Given the description of an element on the screen output the (x, y) to click on. 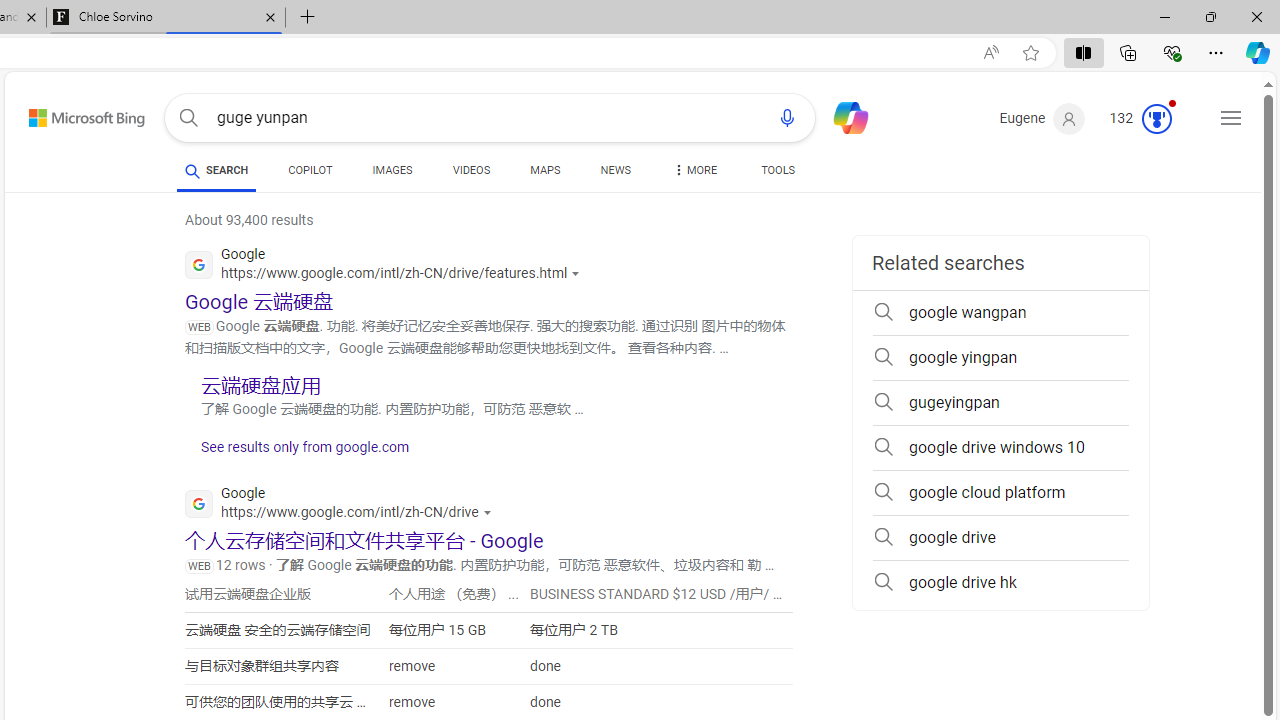
NEWS (614, 170)
Search using voice (787, 117)
Google (343, 506)
IMAGES (392, 173)
Search (188, 117)
MAPS (545, 173)
TOOLS (777, 170)
Split screen (1083, 52)
See results only from google.com (297, 452)
Back to Bing search (74, 113)
MAPS (545, 170)
Class: outer-circle-animation (1156, 118)
Copilot (Ctrl+Shift+.) (1258, 52)
SEARCH (216, 170)
